Given the description of an element on the screen output the (x, y) to click on. 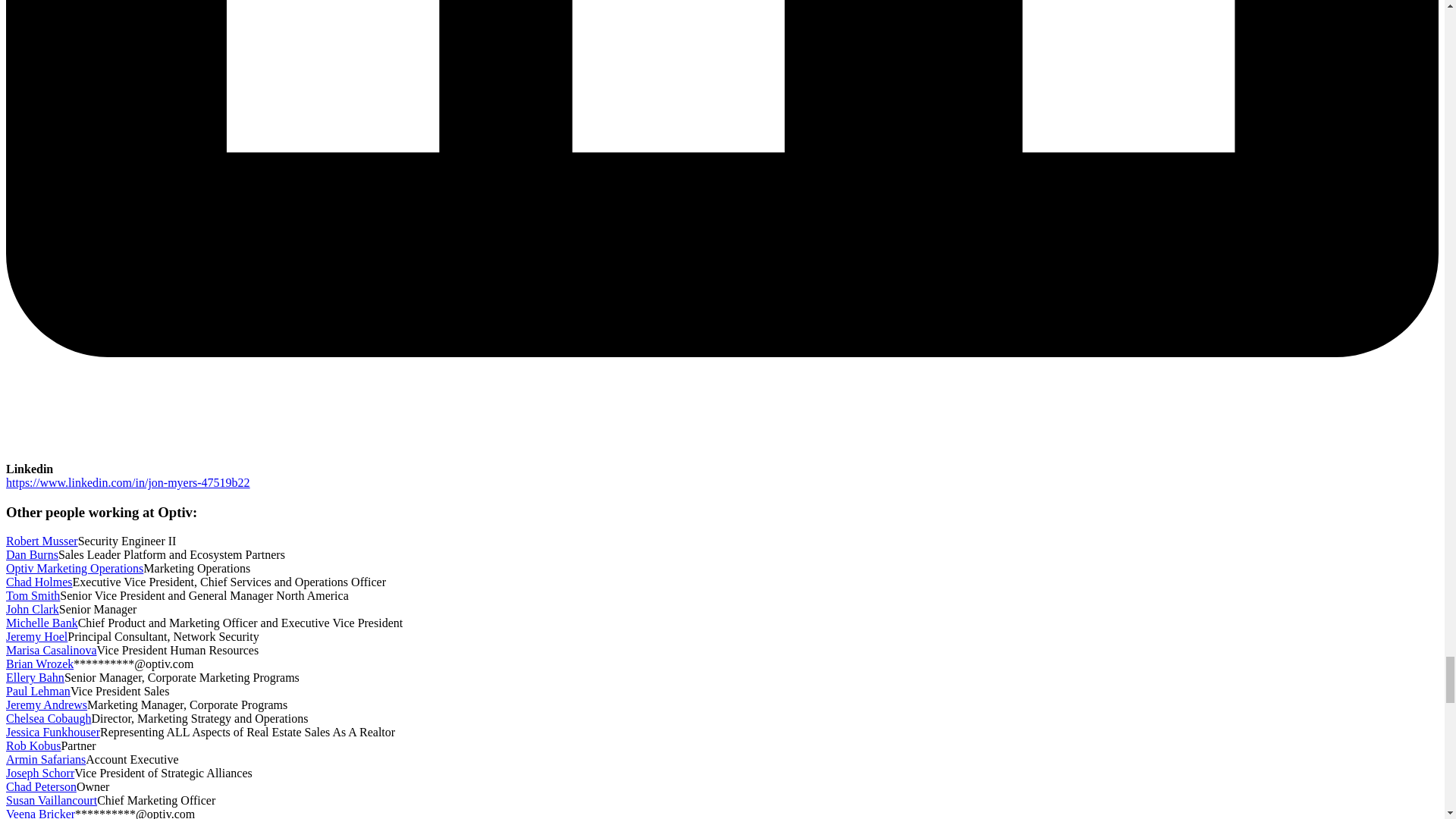
Brian Wrozek (39, 663)
Veena Bricker (40, 813)
Chad Holmes (38, 581)
Marisa Casalinova (51, 649)
Susan Vaillancourt (51, 799)
Chad Peterson (41, 786)
Jeremy Hoel (35, 635)
Robert Musser (41, 540)
Armin Safarians (45, 758)
Paul Lehman (37, 690)
Joseph Schorr (39, 772)
Jessica Funkhouser (52, 731)
Chelsea Cobaugh (47, 717)
Dan Burns (31, 554)
Ellery Bahn (34, 676)
